Given the description of an element on the screen output the (x, y) to click on. 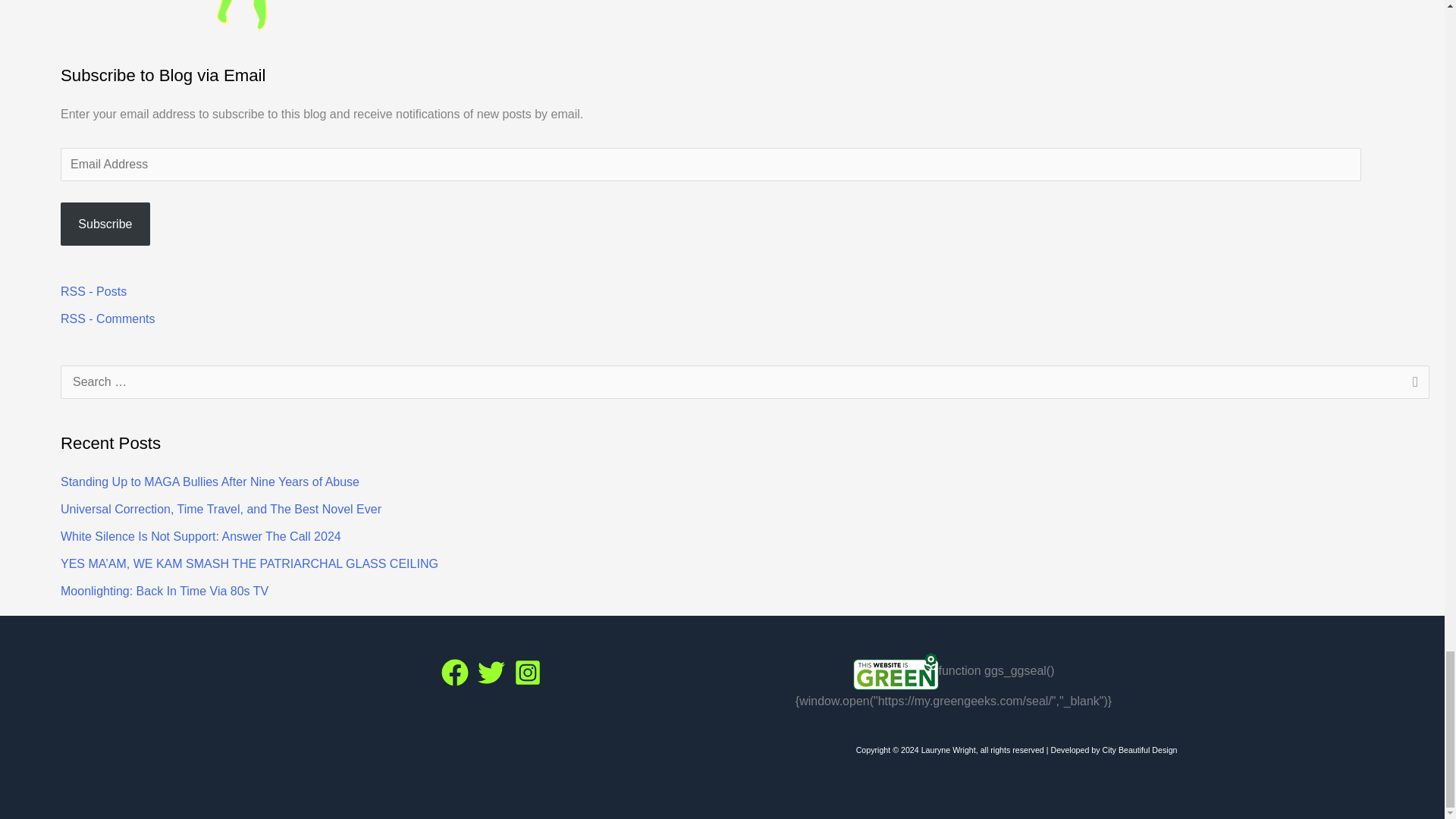
Subscribe to posts (93, 291)
RSS - Posts (93, 291)
RSS - Comments (107, 318)
Standing Up to MAGA Bullies After Nine Years of Abuse (210, 481)
Subscribe (105, 223)
Subscribe to comments (107, 318)
